Given the description of an element on the screen output the (x, y) to click on. 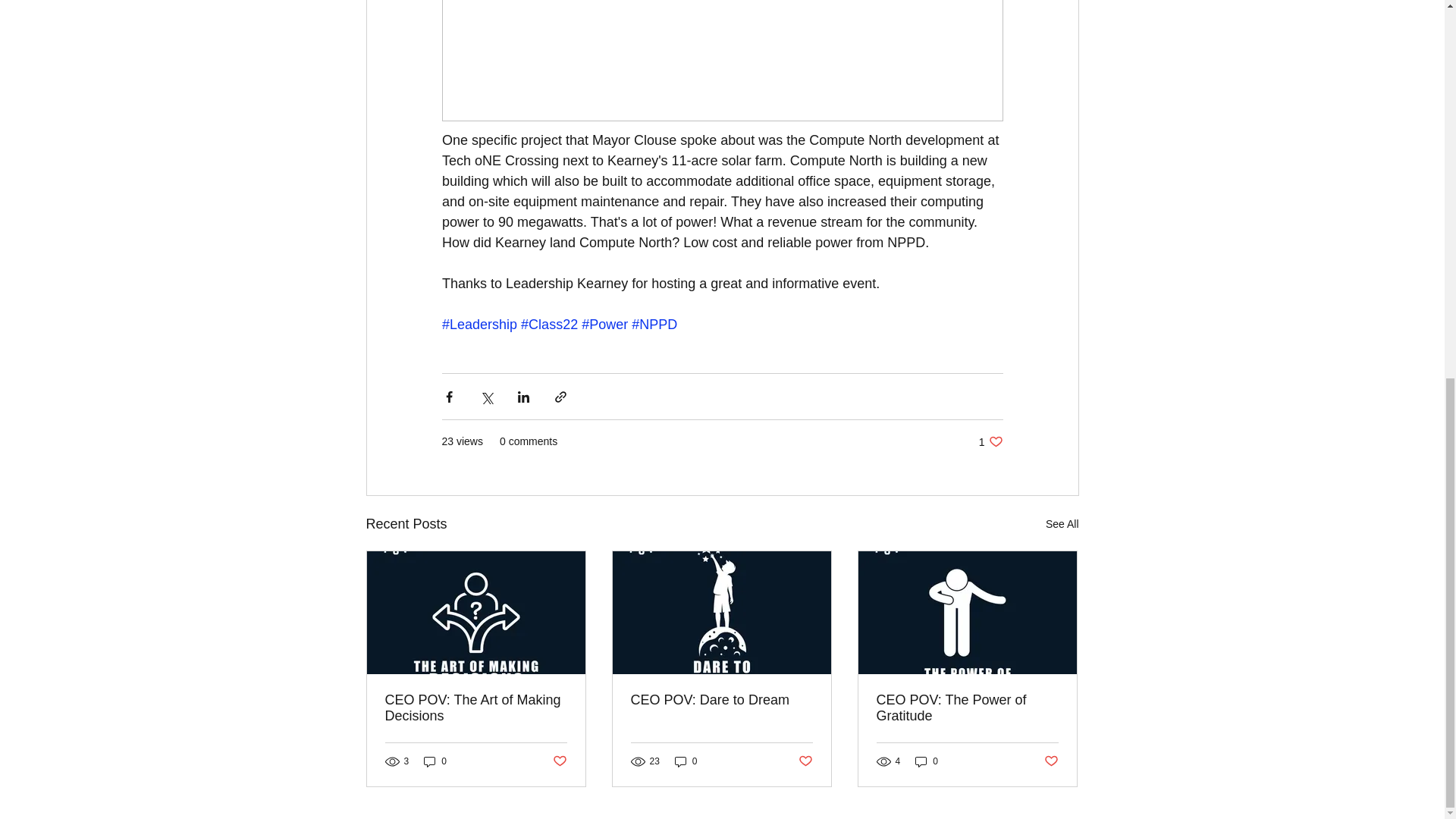
0 (926, 761)
CEO POV: Dare to Dream (721, 700)
CEO POV: The Art of Making Decisions (476, 707)
CEO POV: The Power of Gratitude (967, 707)
0 (435, 761)
See All (1061, 524)
Post not marked as liked (558, 761)
Post not marked as liked (804, 761)
Post not marked as liked (990, 441)
